Given the description of an element on the screen output the (x, y) to click on. 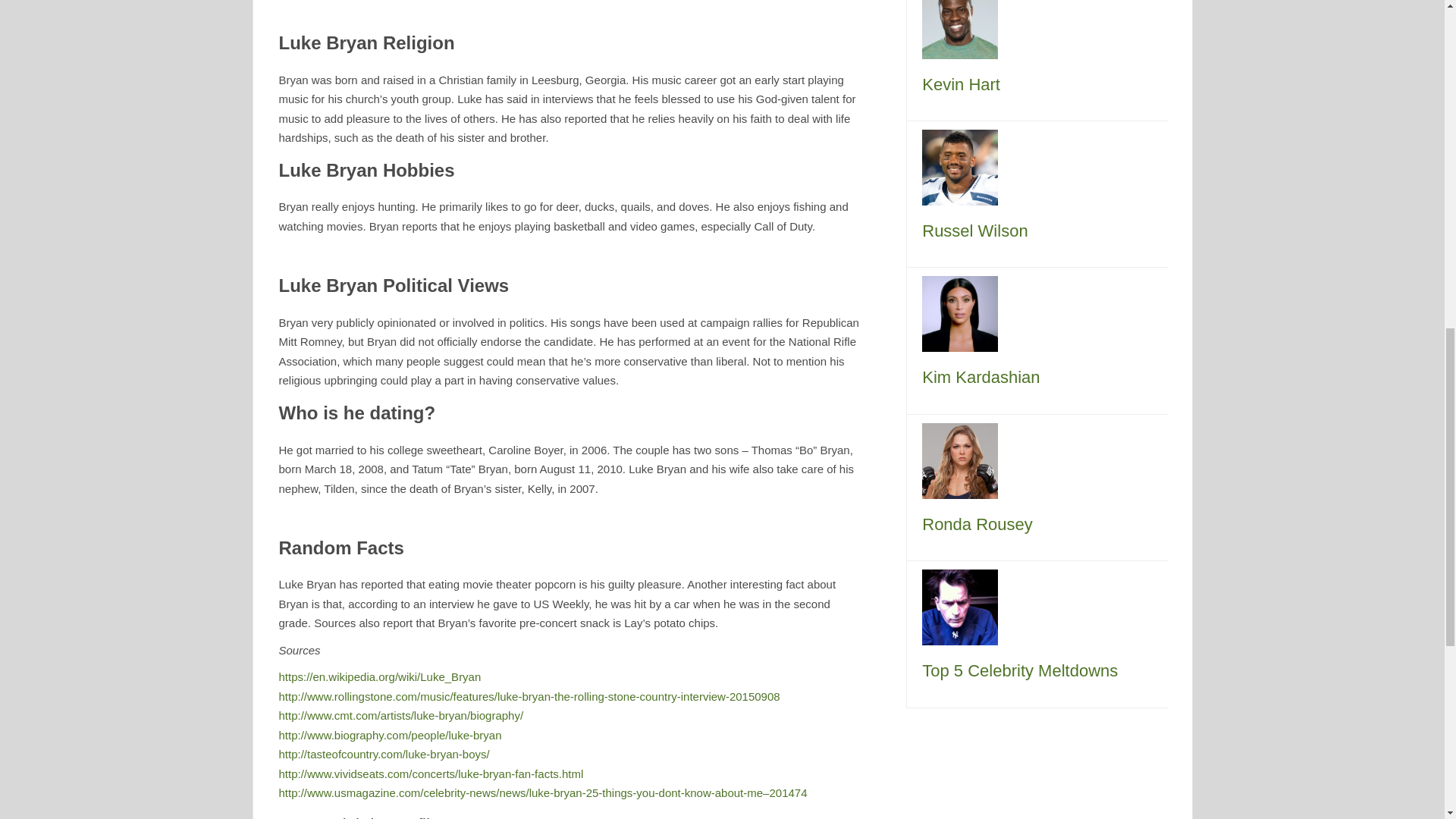
Russel Wilson (974, 230)
Kevin Hart (960, 84)
Kevin Hart (959, 19)
Russel Wilson (974, 230)
Russel Wilson (959, 165)
Kim Kardashian (959, 312)
Kim Kardashian (980, 376)
Kevin Hart (960, 84)
